Given the description of an element on the screen output the (x, y) to click on. 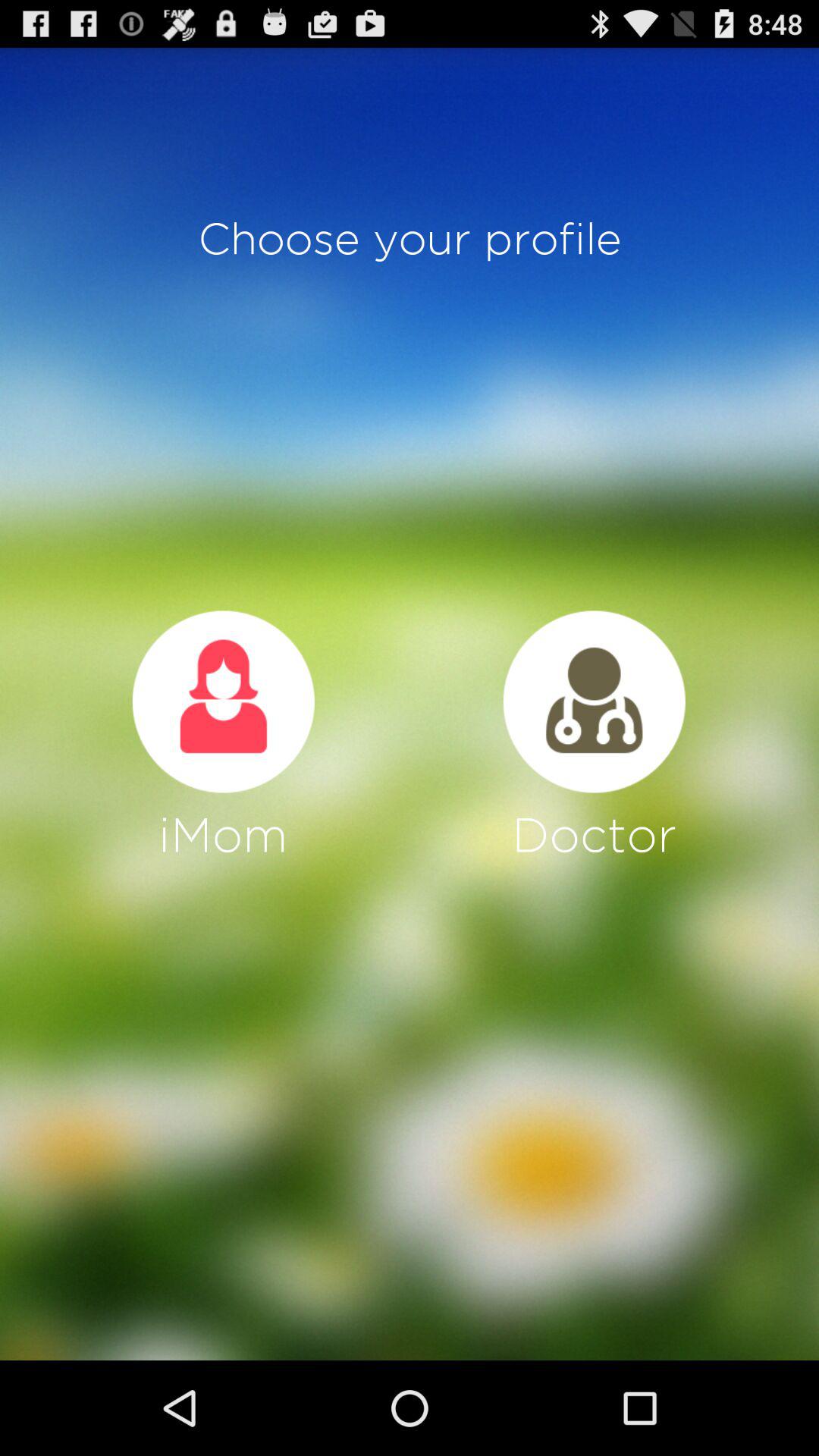
choose profile (223, 701)
